Given the description of an element on the screen output the (x, y) to click on. 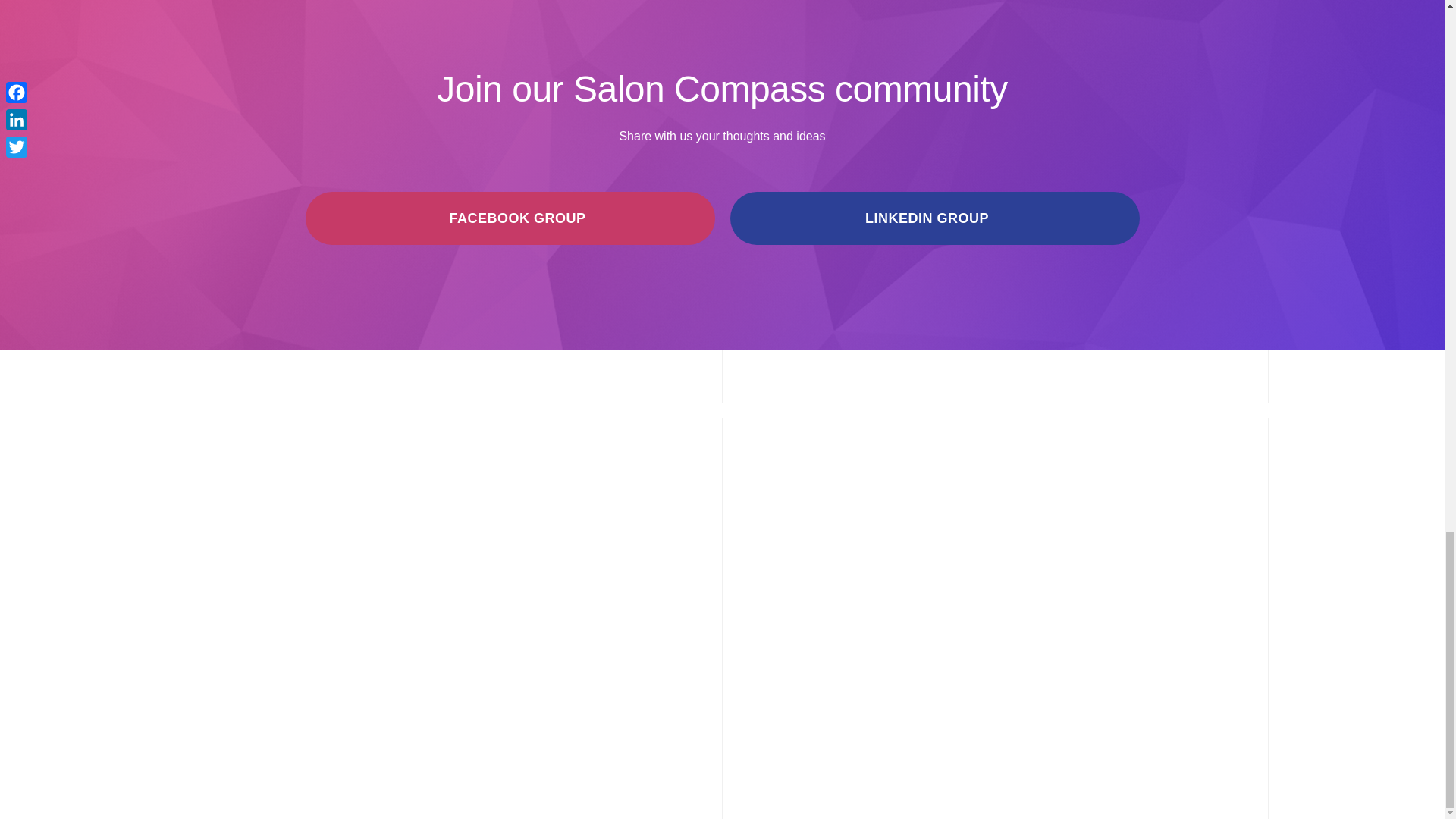
LINKEDIN GROUP (933, 217)
FACEBOOK GROUP (509, 217)
